Given the description of an element on the screen output the (x, y) to click on. 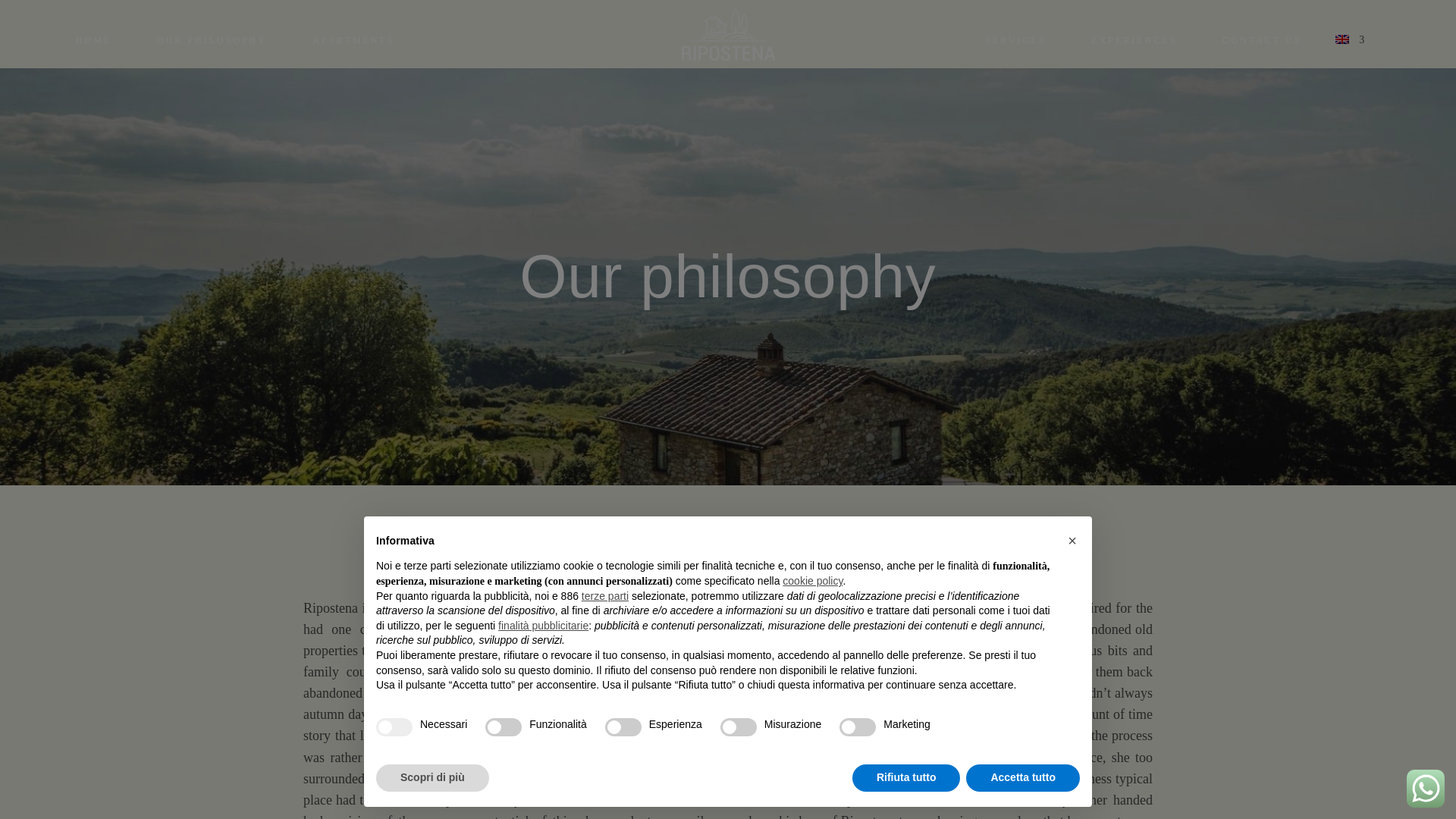
OUR PHILOSOPHY (211, 40)
false (738, 727)
EXPERIENCES (1133, 40)
false (502, 727)
CONTACT US (1262, 40)
false (858, 727)
false (623, 727)
APARTMENTS (353, 40)
true (393, 727)
